Given the description of an element on the screen output the (x, y) to click on. 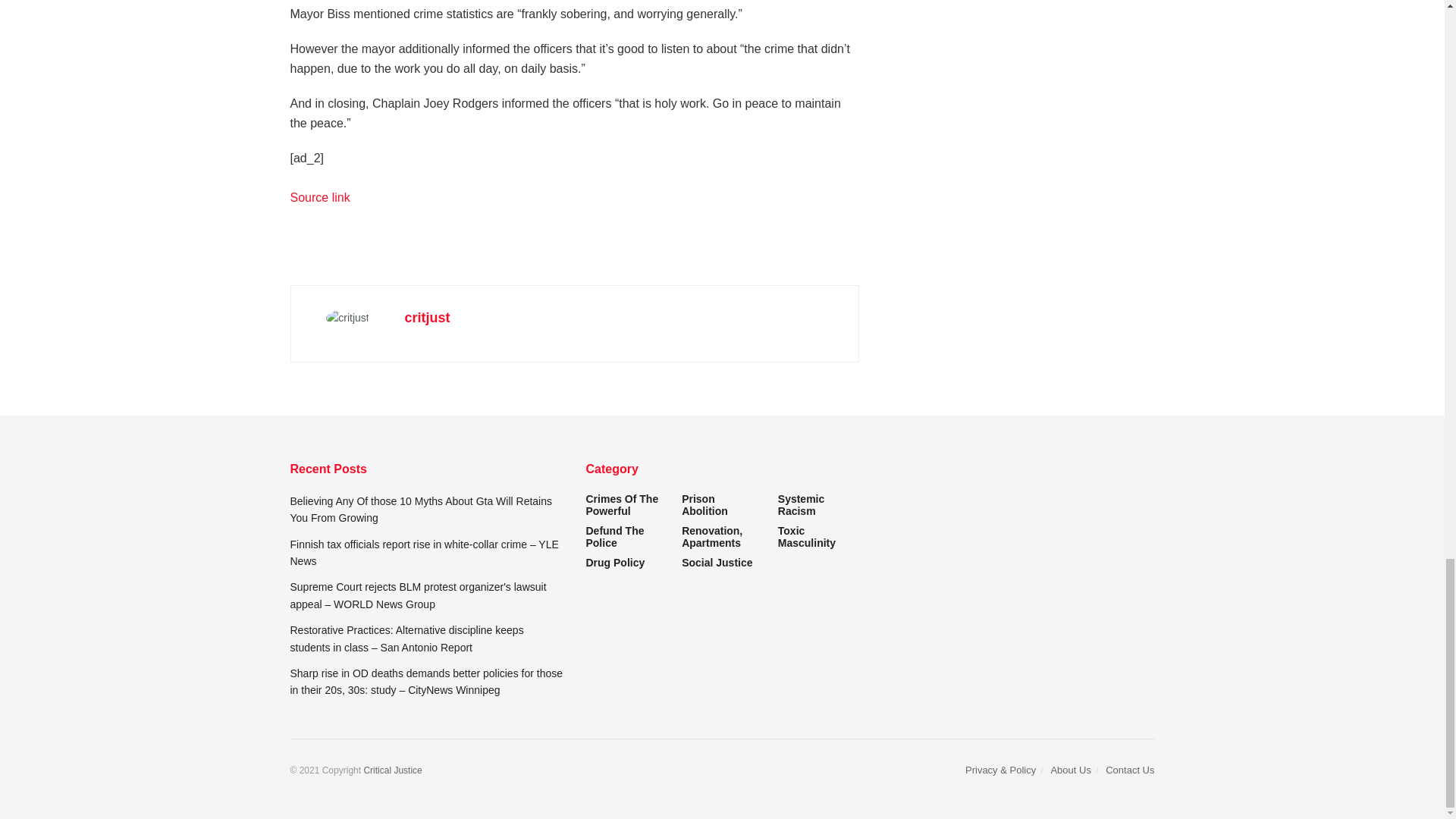
critjust (426, 317)
Source link (319, 196)
